Given the description of an element on the screen output the (x, y) to click on. 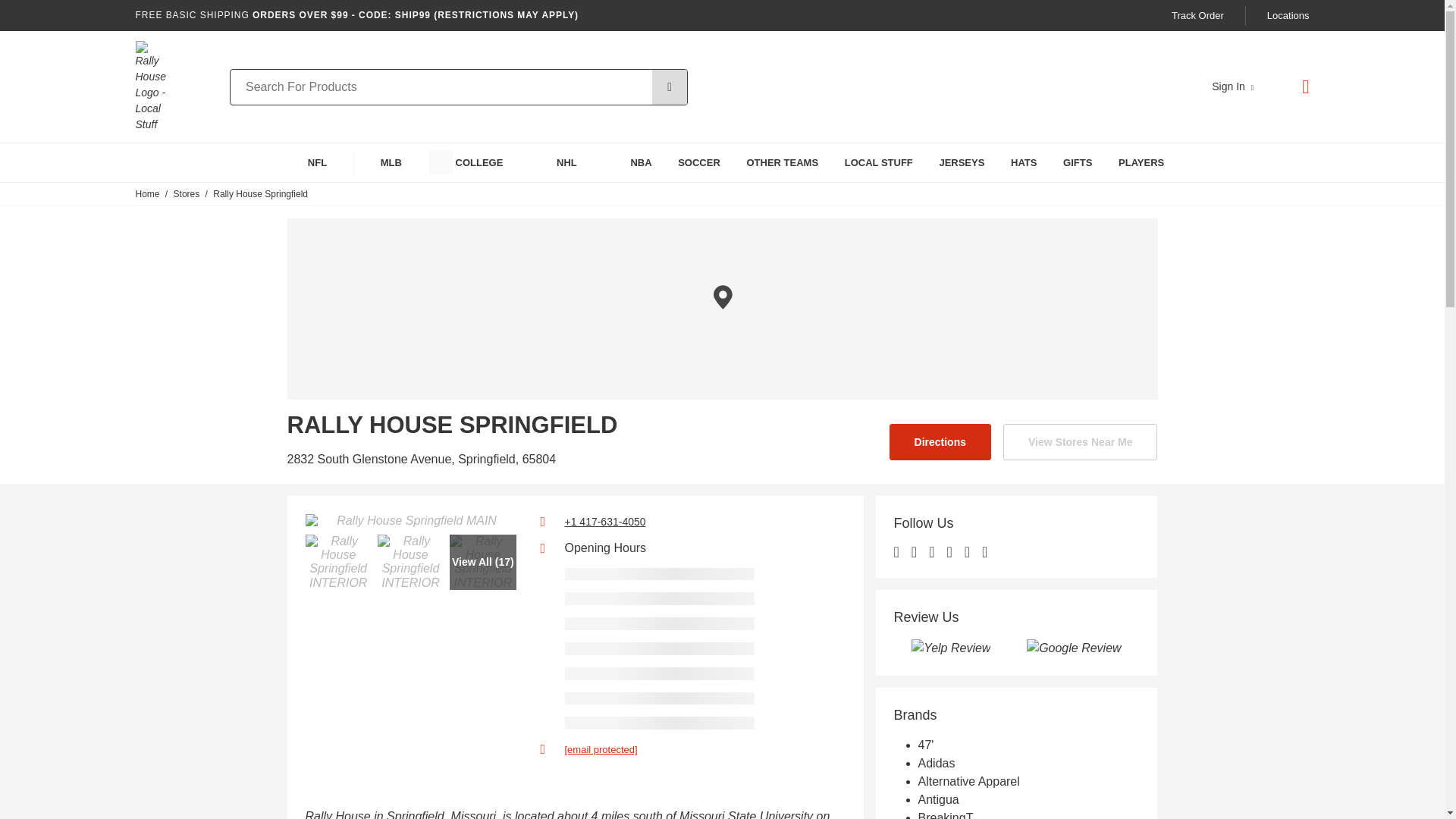
Sign In (1232, 86)
NFL (302, 162)
Locations (1287, 15)
Search (669, 86)
Track Order (1198, 15)
